Given the description of an element on the screen output the (x, y) to click on. 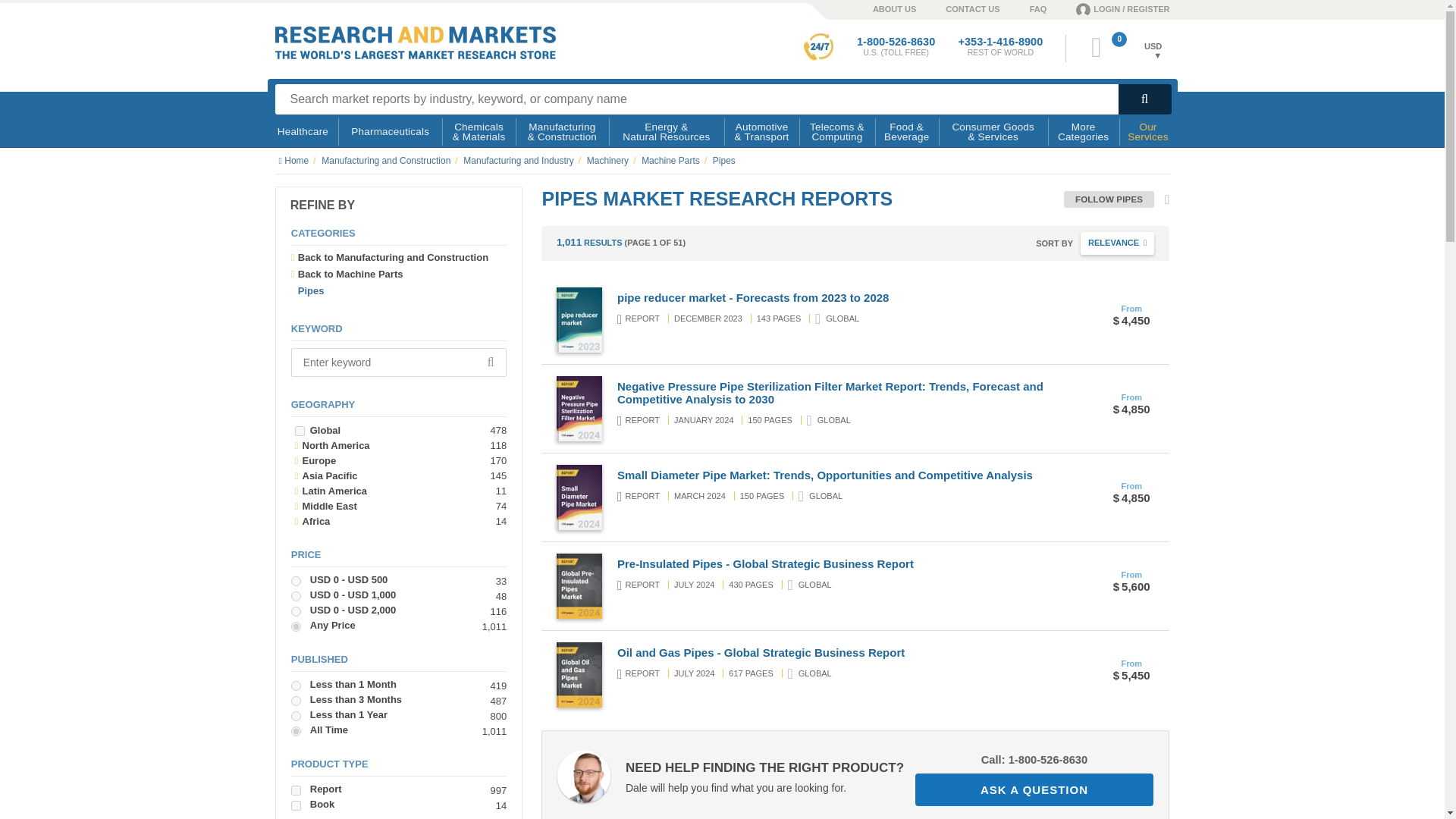
594 (299, 430)
AnyPrice (296, 626)
17 (296, 805)
HighRange (296, 611)
1 (296, 790)
1-800-526-8630 (895, 41)
From0To30Days (296, 685)
From0To365Days (296, 716)
AllTime (296, 731)
CONTACT US (956, 8)
From0To90Days (296, 700)
ABOUT US (879, 8)
Healthcare (302, 132)
FAQ (1023, 8)
MidRange (296, 596)
